Given the description of an element on the screen output the (x, y) to click on. 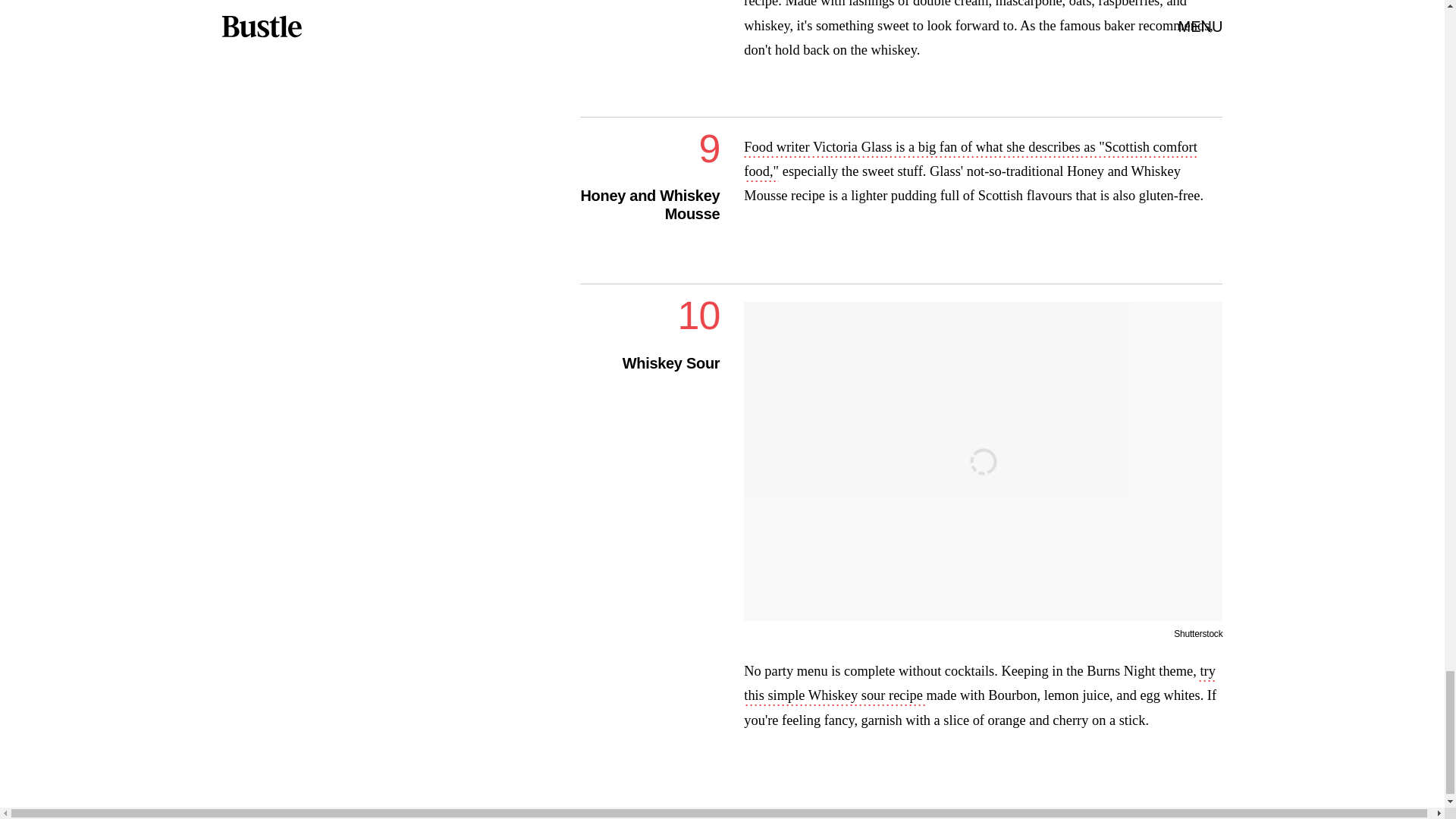
try this simple Whiskey sour recipe (979, 684)
